Given the description of an element on the screen output the (x, y) to click on. 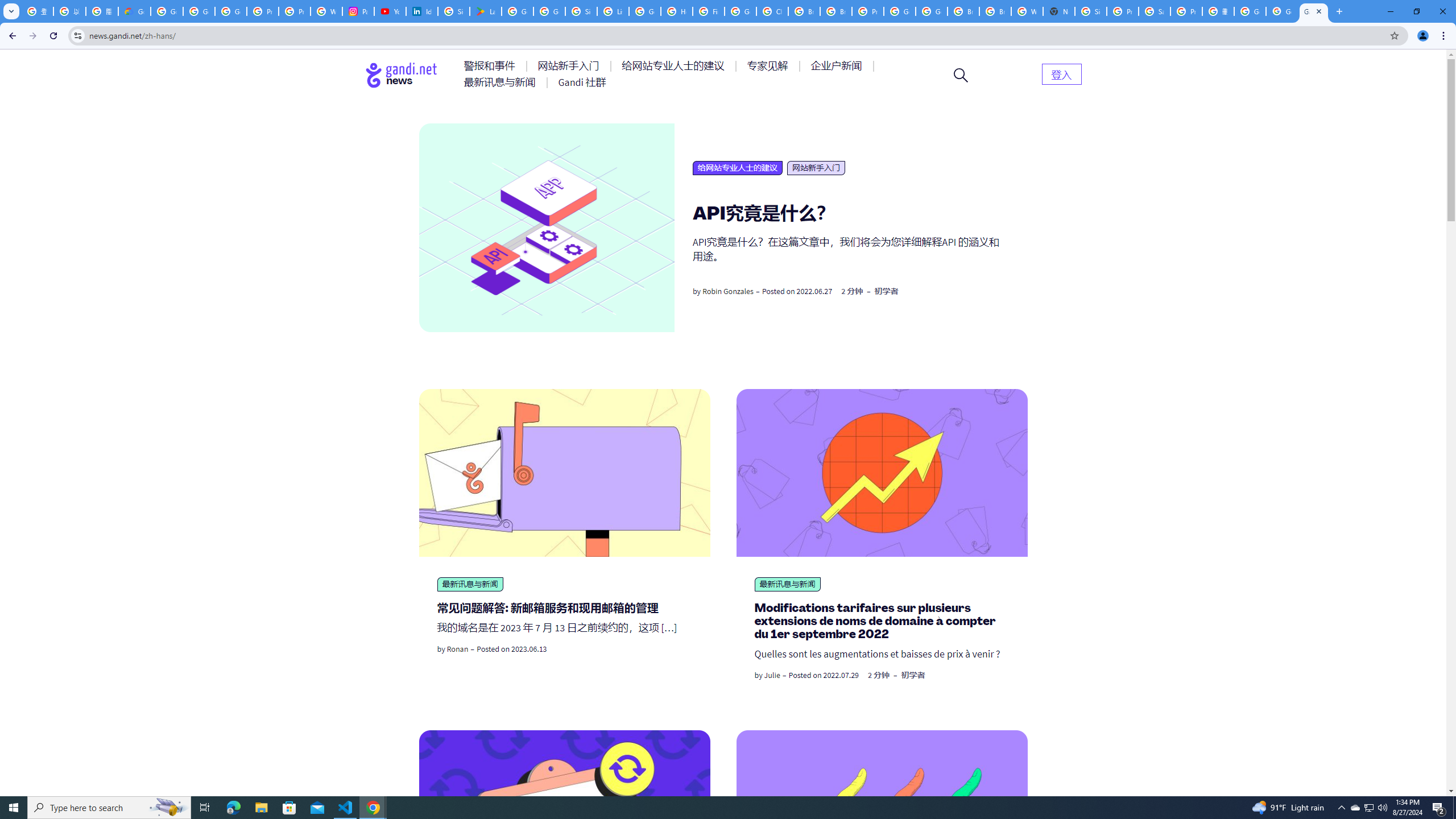
Browse Chrome as a guest - Computer - Google Chrome Help (836, 11)
Go to home (401, 75)
Browse Chrome as a guest - Computer - Google Chrome Help (804, 11)
AutomationID: menu-item-77767 (581, 82)
Privacy Help Center - Policies Help (294, 11)
AutomationID: menu-item-77766 (502, 82)
AutomationID: menu-item-77763 (674, 65)
Browse Chrome as a guest - Computer - Google Chrome Help (963, 11)
AutomationID: menu-item-77765 (838, 65)
Sign in - Google Accounts (581, 11)
